Given the description of an element on the screen output the (x, y) to click on. 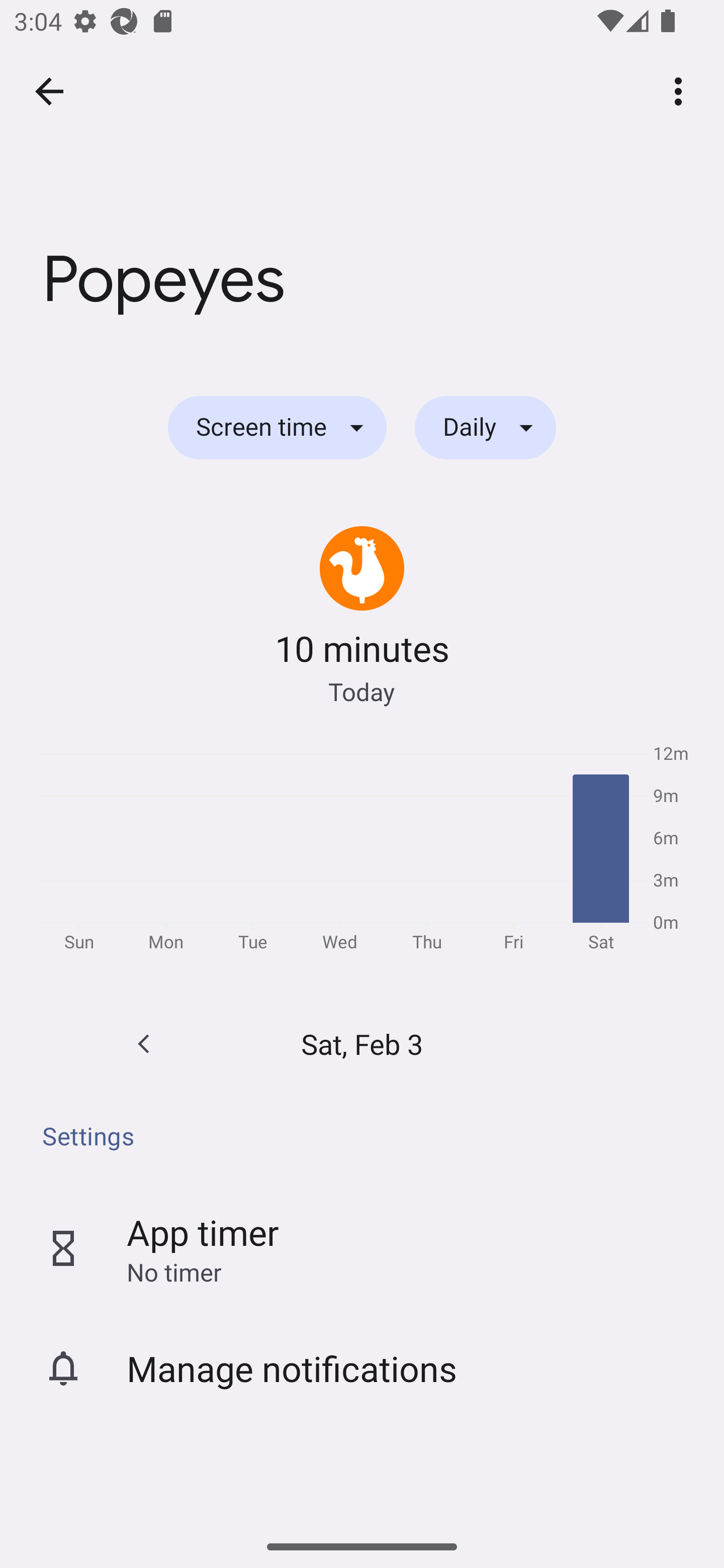
Navigate up (49, 91)
More options (681, 90)
Screen time (276, 427)
Daily (485, 427)
Go to the previous day (143, 1043)
App timer No timer (362, 1248)
Manage notifications (362, 1368)
